Given the description of an element on the screen output the (x, y) to click on. 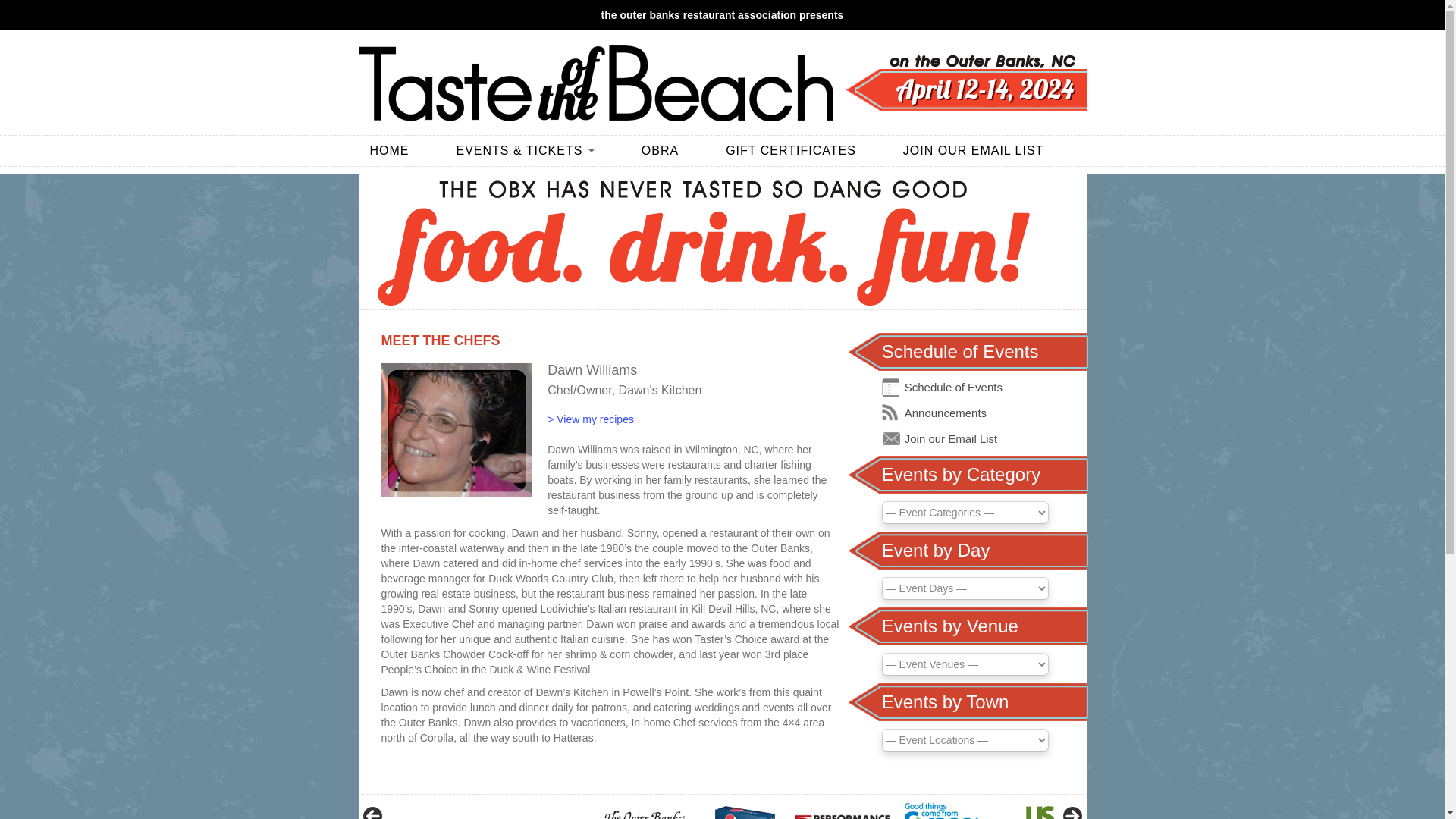
HOME (401, 150)
Join our Email List (950, 438)
Skip to primary content (53, 142)
Schedule of Events (953, 386)
Welcome to the 2024 Outer Banks Taste of The Beach (595, 83)
JOIN OUR EMAIL LIST (967, 150)
Skip to secondary content (61, 142)
pfg-northcenter-logo (841, 810)
GIFT CERTIFICATES (802, 150)
Skip to primary content (53, 142)
OBRA (672, 150)
Skip to secondary content (61, 142)
Announcements (945, 412)
